Given the description of an element on the screen output the (x, y) to click on. 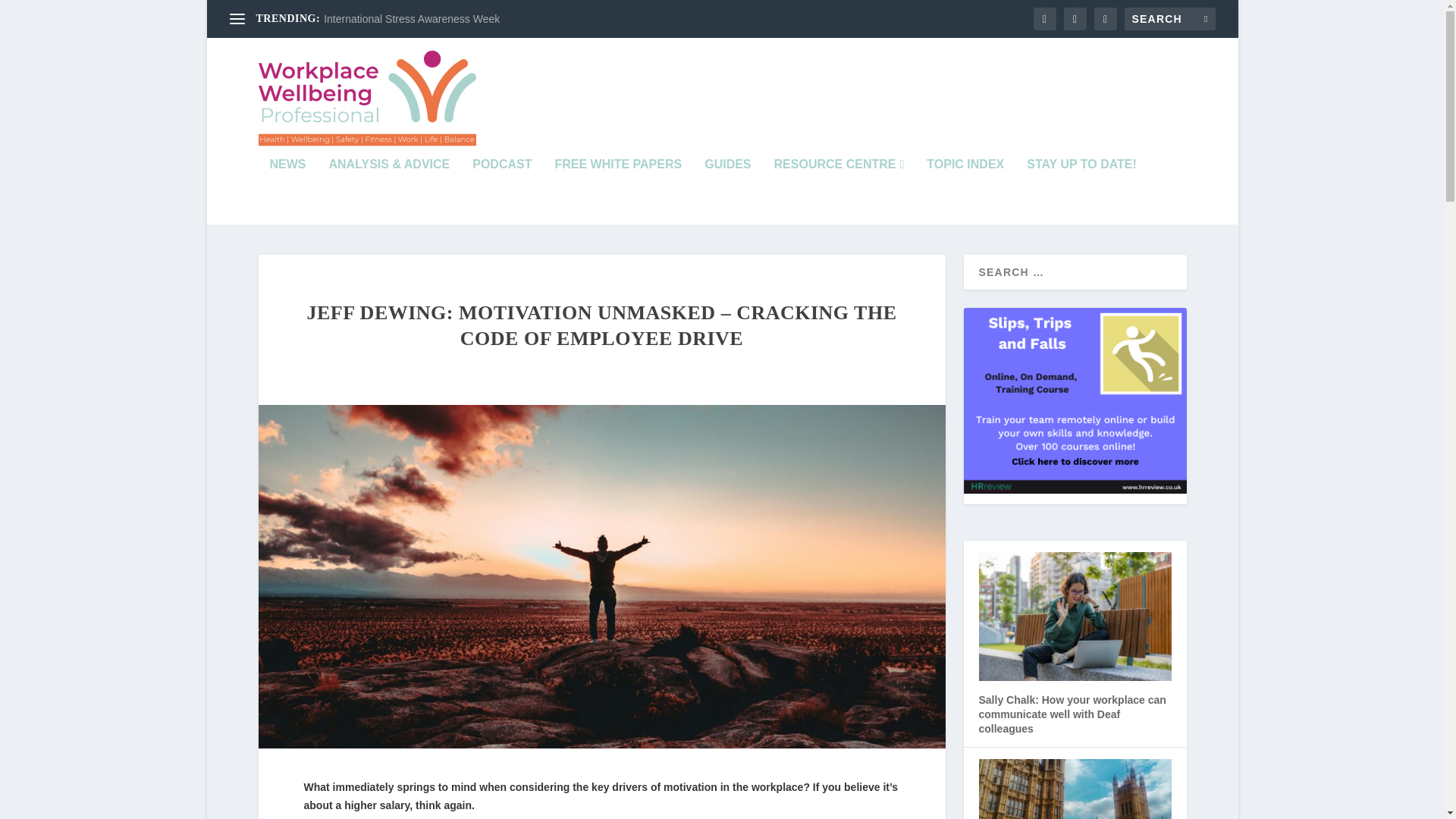
TOPIC INDEX (965, 191)
RESOURCE CENTRE (839, 191)
International Stress Awareness Week (411, 19)
FREE WHITE PAPERS (617, 191)
